Given the description of an element on the screen output the (x, y) to click on. 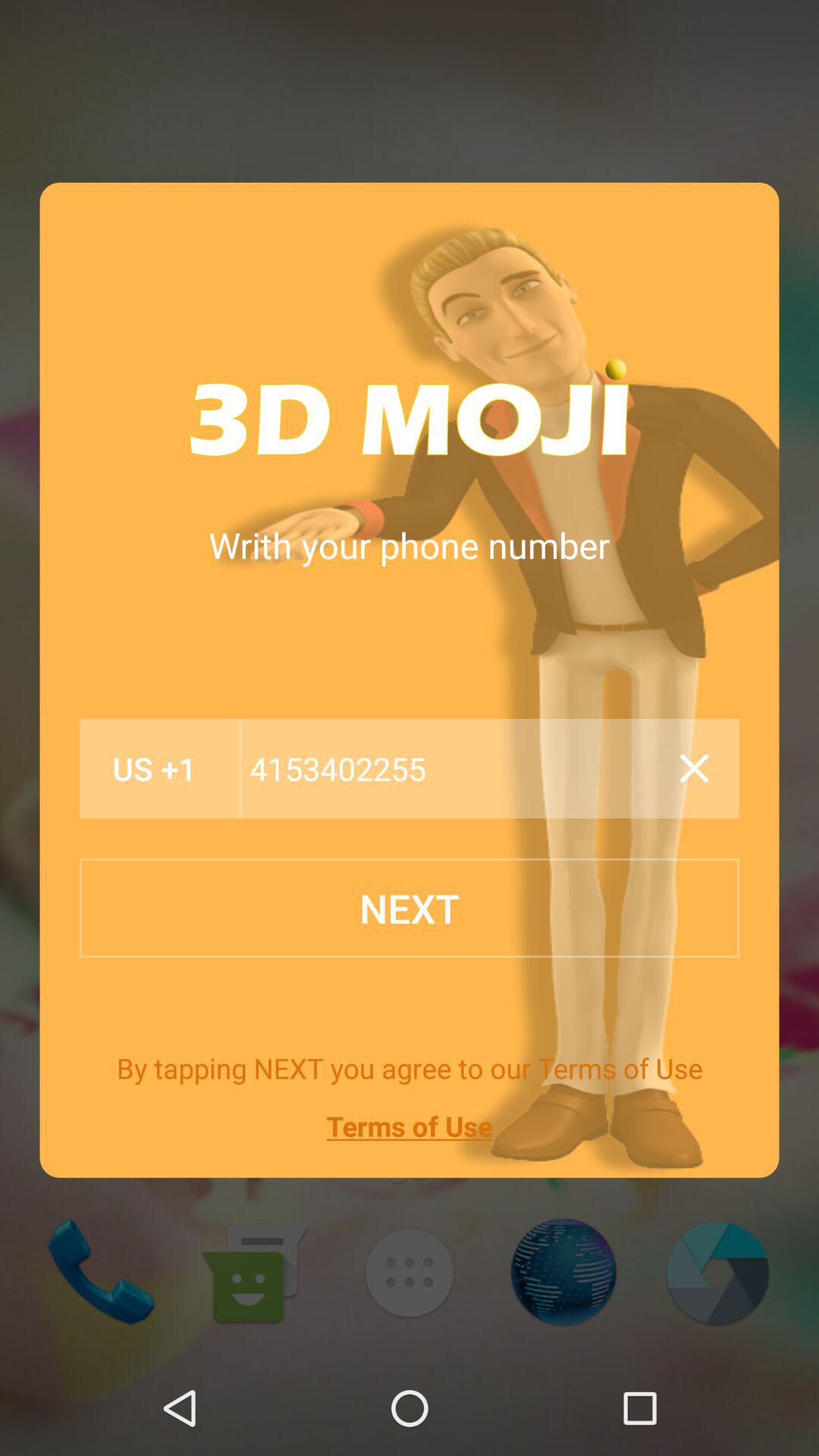
tap button above the next item (454, 768)
